Given the description of an element on the screen output the (x, y) to click on. 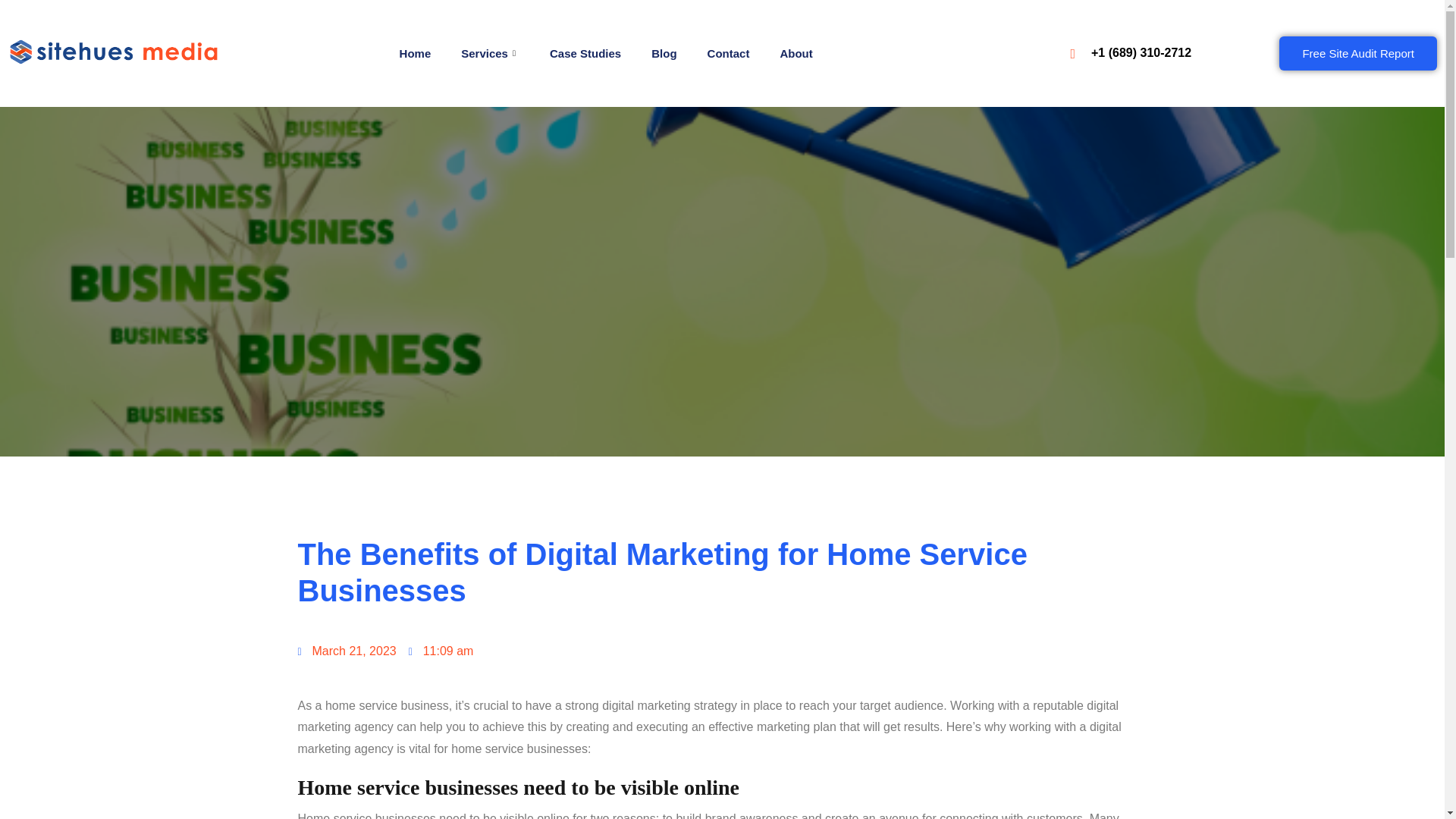
Case Studies (585, 53)
Contact (728, 53)
Free Site Audit Report (1358, 53)
Services (490, 53)
March 21, 2023 (346, 651)
